Given the description of an element on the screen output the (x, y) to click on. 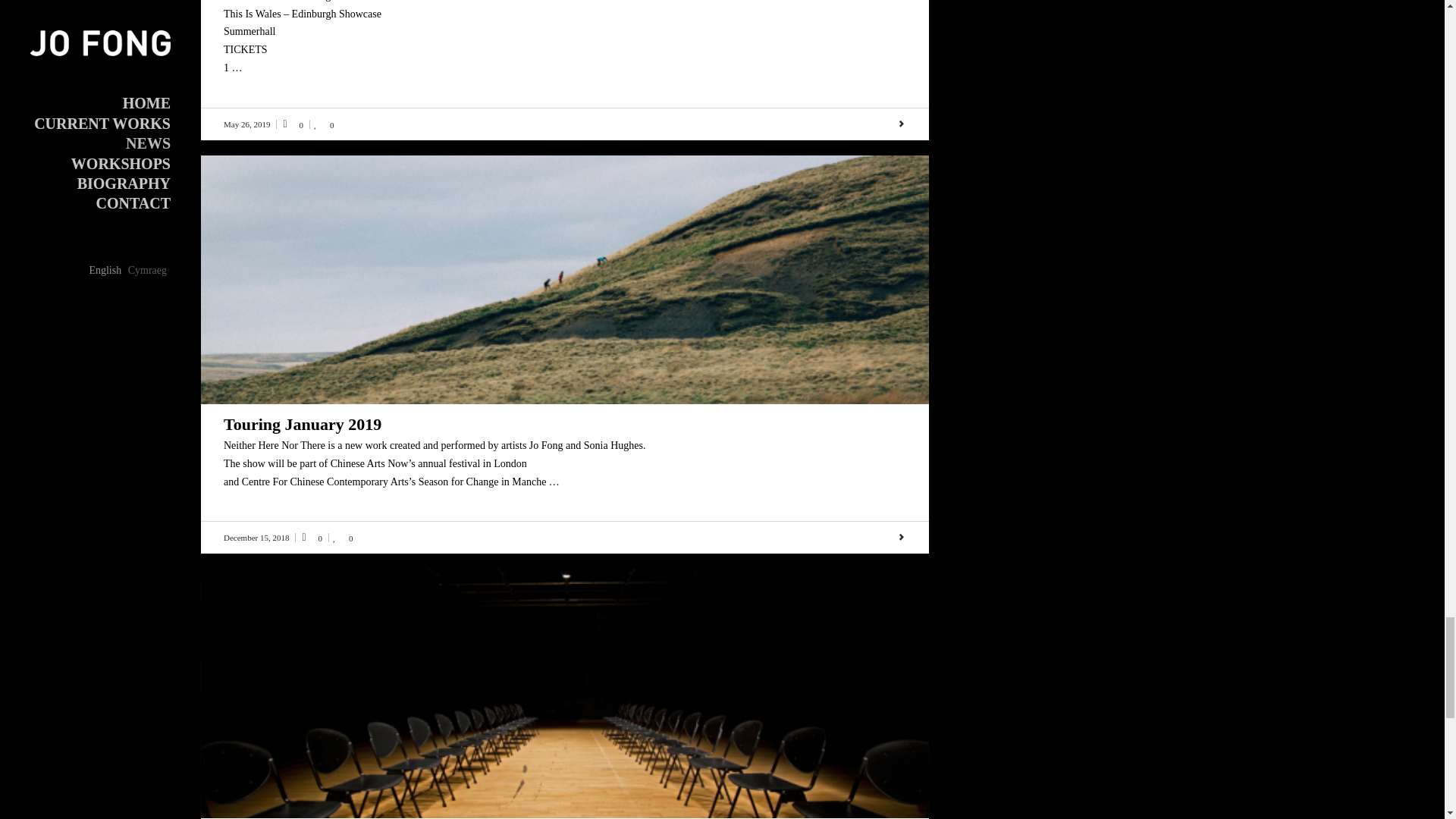
0 (324, 123)
